Given the description of an element on the screen output the (x, y) to click on. 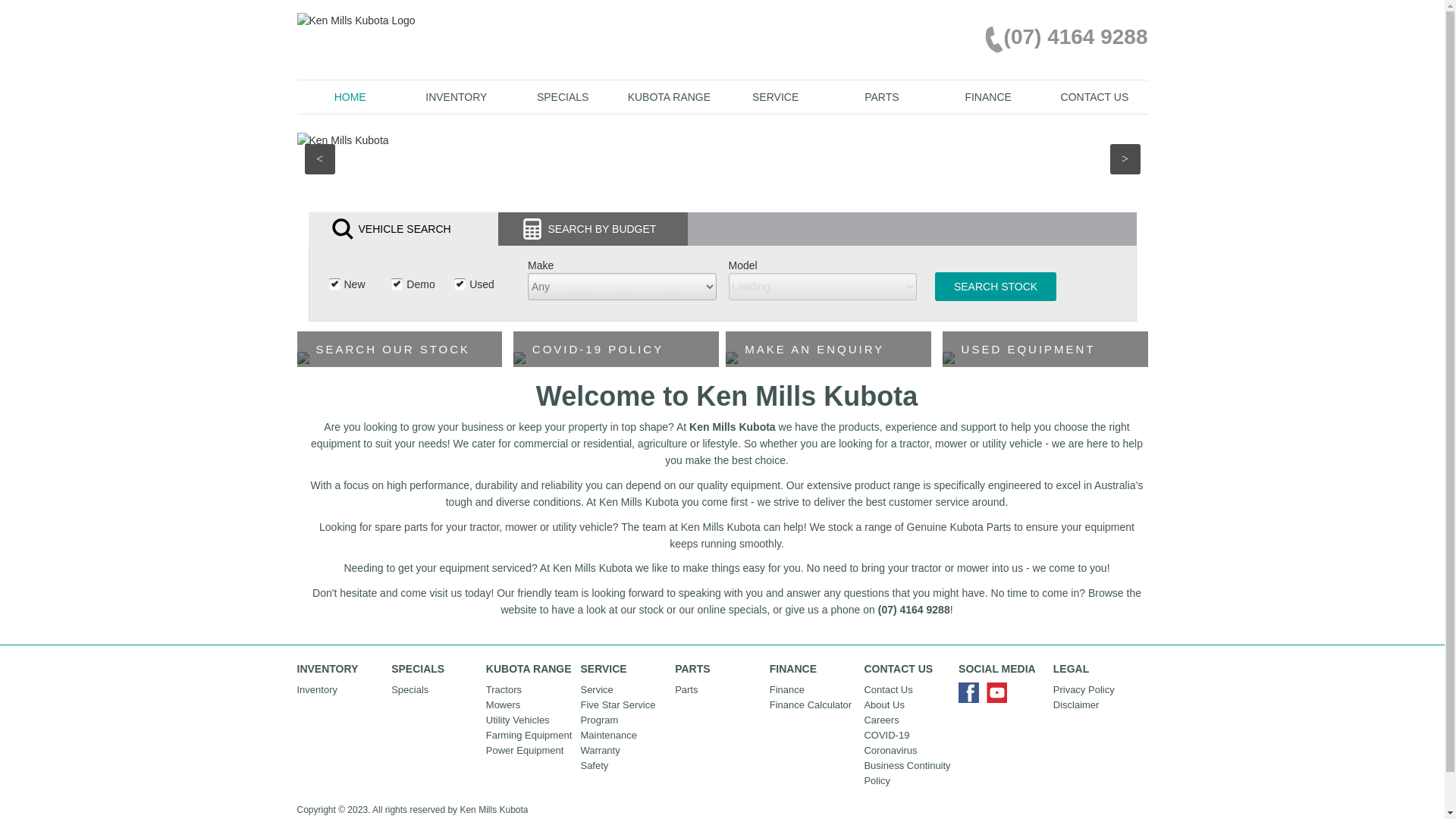
MAKE AN ENQUIRY Element type: text (828, 359)
PARTS Element type: text (881, 96)
SERVICE Element type: text (774, 96)
SPECIALS Element type: text (562, 96)
Careers Element type: text (907, 720)
Privacy Policy Element type: text (1097, 689)
About Us Element type: text (907, 704)
facebook Element type: text (972, 696)
Specials Element type: text (435, 689)
KUBOTA RANGE Element type: text (668, 96)
Power Equipment Element type: text (530, 750)
Contact Us Element type: text (907, 689)
USED EQUIPMENT Element type: text (1045, 359)
Five Star Service Program Element type: text (624, 712)
Service Element type: text (624, 689)
COVID-19 POLICY Element type: text (615, 359)
Finance Calculator Element type: text (813, 704)
Mowers Element type: text (530, 704)
Safety Element type: text (624, 765)
Utility Vehicles Element type: text (530, 720)
Inventory Element type: text (341, 689)
Maintenance Element type: text (624, 735)
SEARCH OUR STOCK Element type: text (399, 359)
Warranty Element type: text (624, 750)
(07) 4164 9288 Element type: text (1060, 37)
youtube Element type: text (1000, 696)
SEARCH BY BUDGET Element type: text (592, 228)
FINANCE Element type: text (988, 96)
Parts Element type: text (718, 689)
Disclaimer Element type: text (1097, 704)
HOME Element type: text (350, 96)
Tractors Element type: text (530, 689)
Farming Equipment Element type: text (530, 735)
Search Stock Element type: text (995, 286)
INVENTORY Element type: text (456, 96)
Finance Element type: text (813, 689)
CONTACT US Element type: text (1094, 96)
VEHICLE SEARCH Element type: text (402, 228)
COVID-19 Coronavirus Business Continuity Policy Element type: text (907, 758)
